Given the description of an element on the screen output the (x, y) to click on. 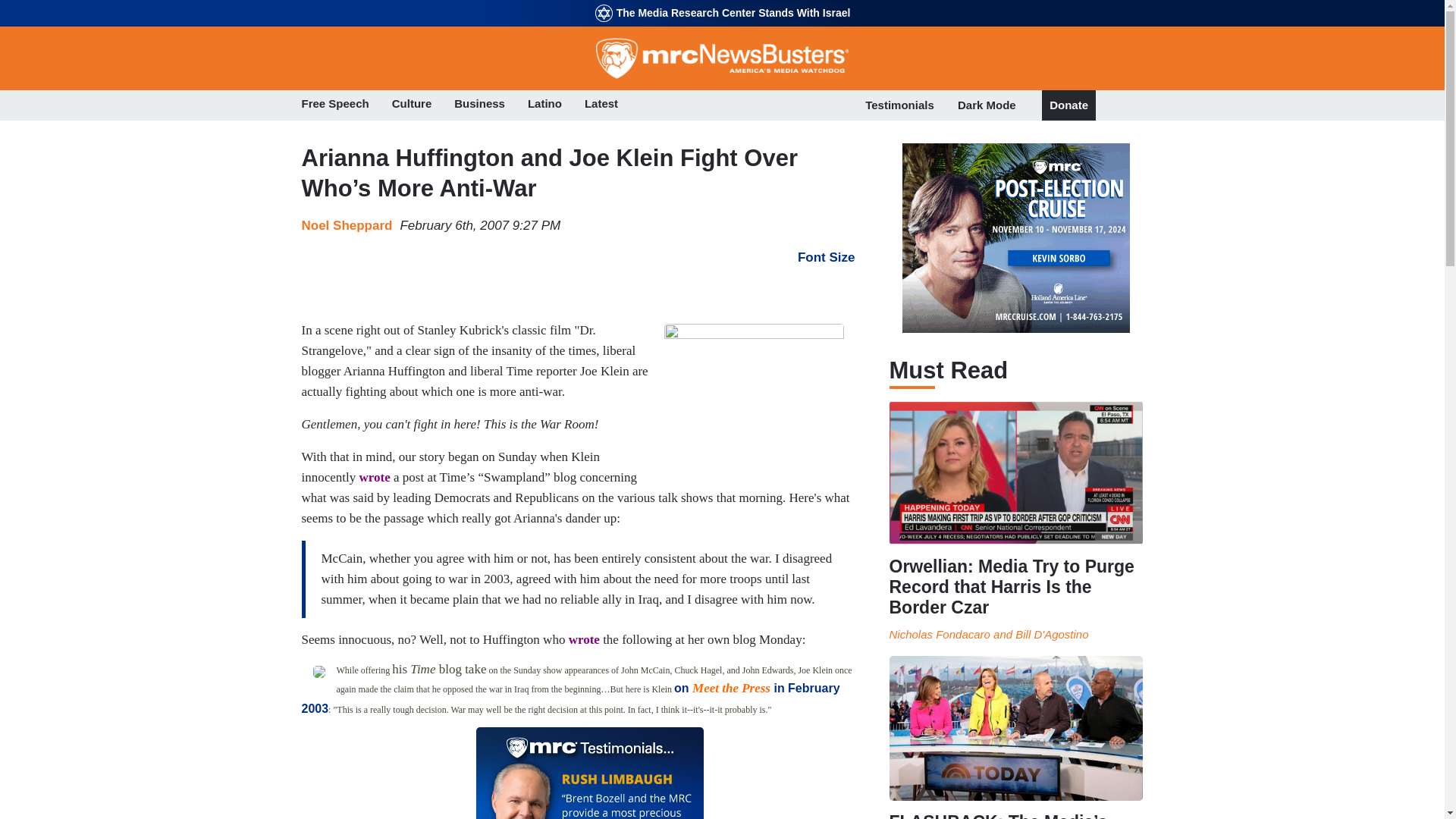
Free Speech (335, 105)
Donate (1068, 105)
Skip to main content (721, 1)
Culture (411, 105)
Dark Mode (987, 104)
Business (479, 105)
Latest (601, 105)
Testimonials (899, 104)
Latino (544, 105)
